Given the description of an element on the screen output the (x, y) to click on. 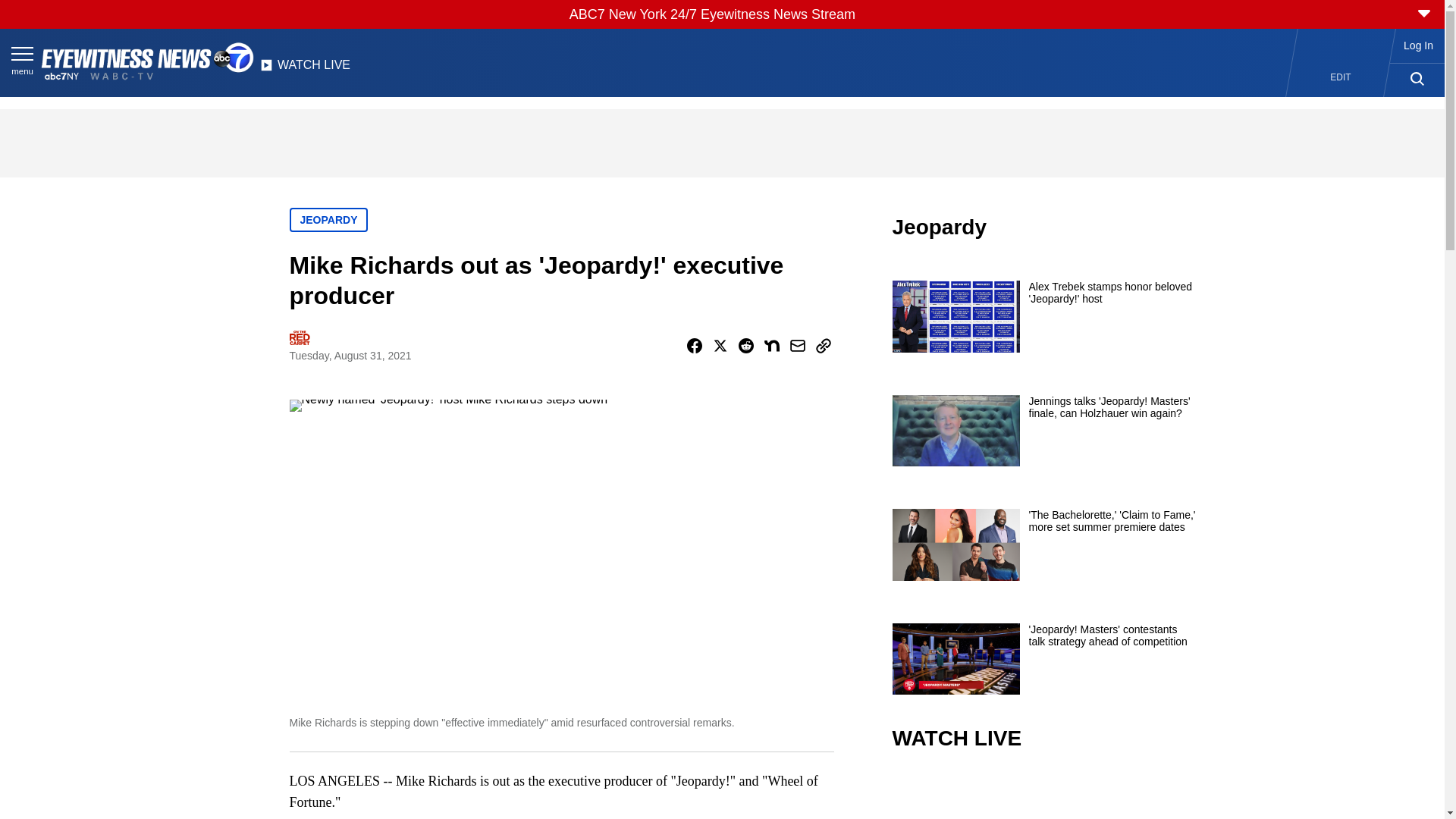
EDIT (1340, 77)
video.title (1043, 796)
WATCH LIVE (305, 69)
